Given the description of an element on the screen output the (x, y) to click on. 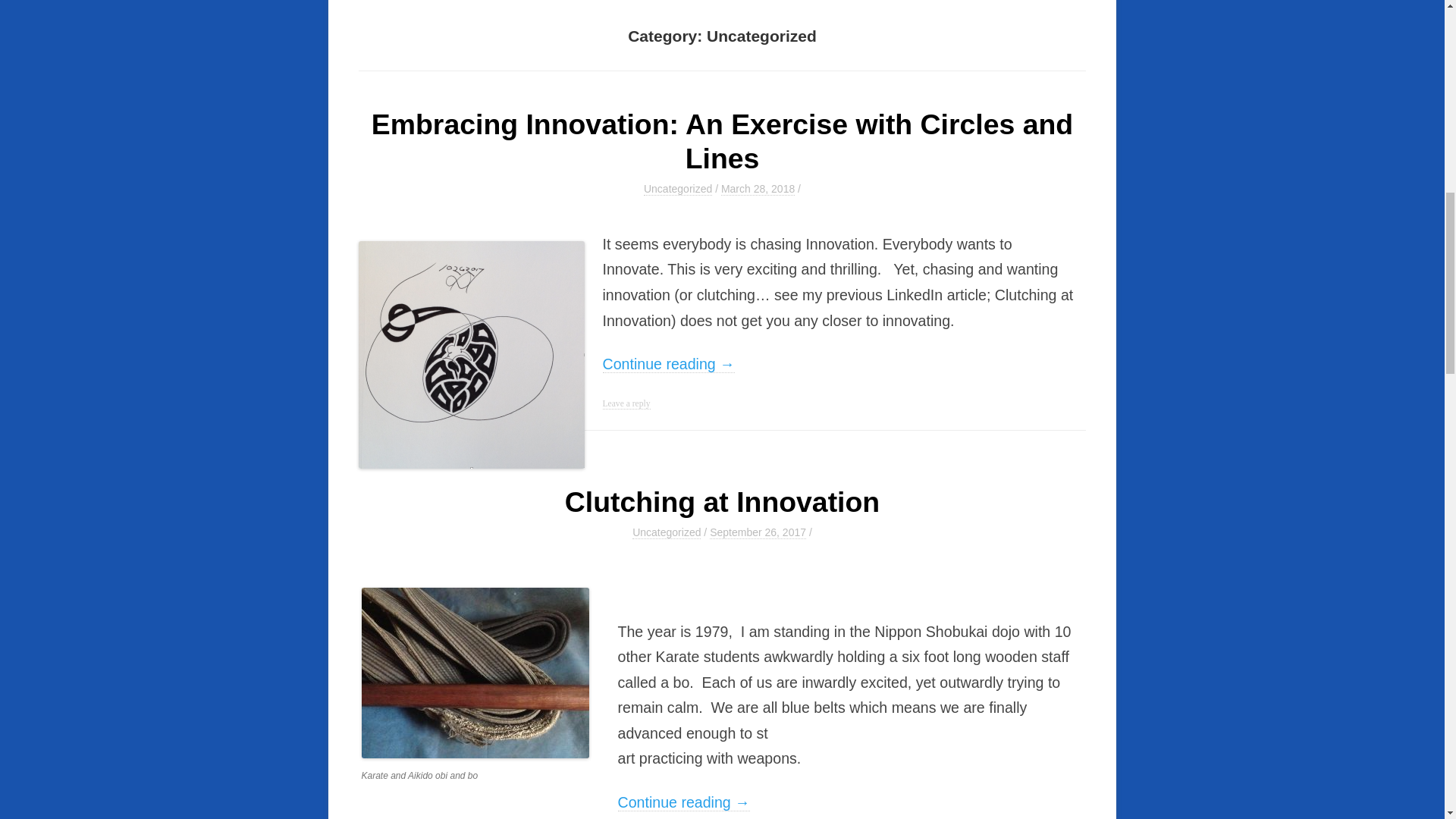
Embracing Innovation: An Exercise with Circles and Lines (722, 141)
September 26, 2017 (758, 532)
Leave a reply (625, 403)
Uncategorized (665, 532)
10:38 pm (757, 188)
Clutching at Innovation (721, 501)
March 28, 2018 (757, 188)
11:05 pm (758, 532)
Uncategorized (677, 188)
